Given the description of an element on the screen output the (x, y) to click on. 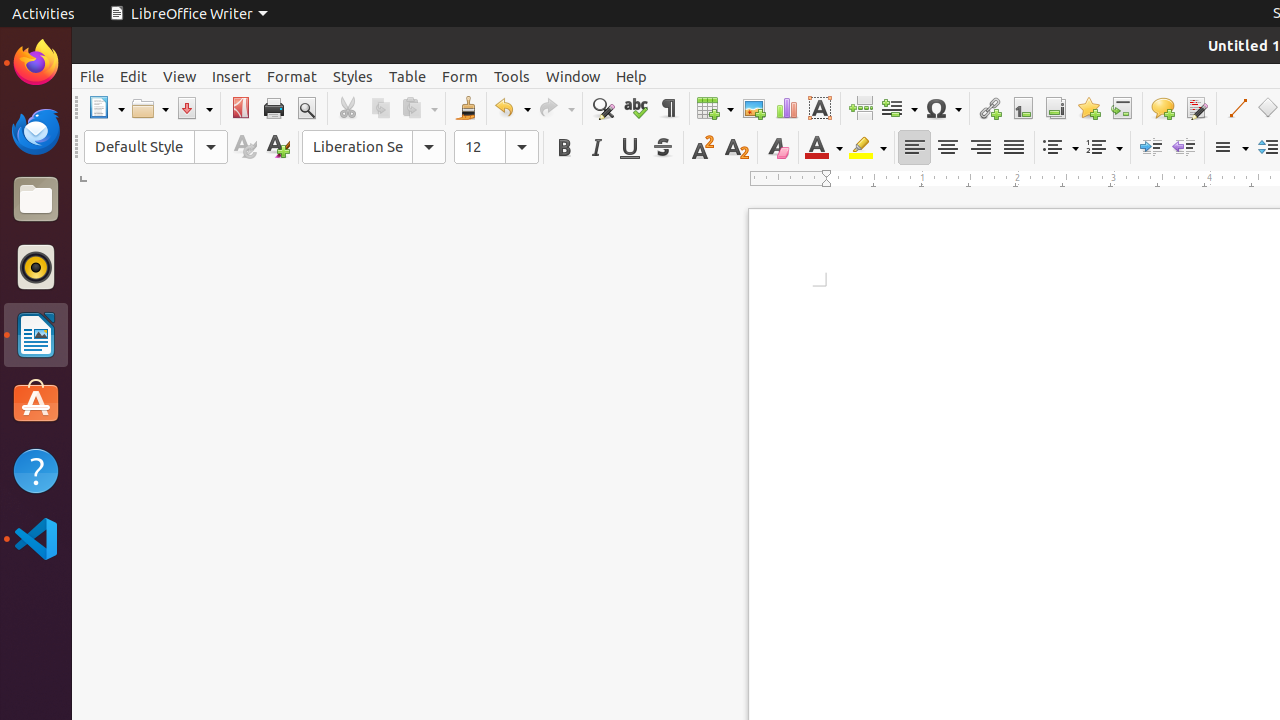
Thunderbird Mail Element type: push-button (36, 131)
Table Element type: push-button (715, 108)
Visual Studio Code Element type: push-button (36, 538)
Format Element type: menu (292, 76)
Bold Element type: toggle-button (563, 147)
